Given the description of an element on the screen output the (x, y) to click on. 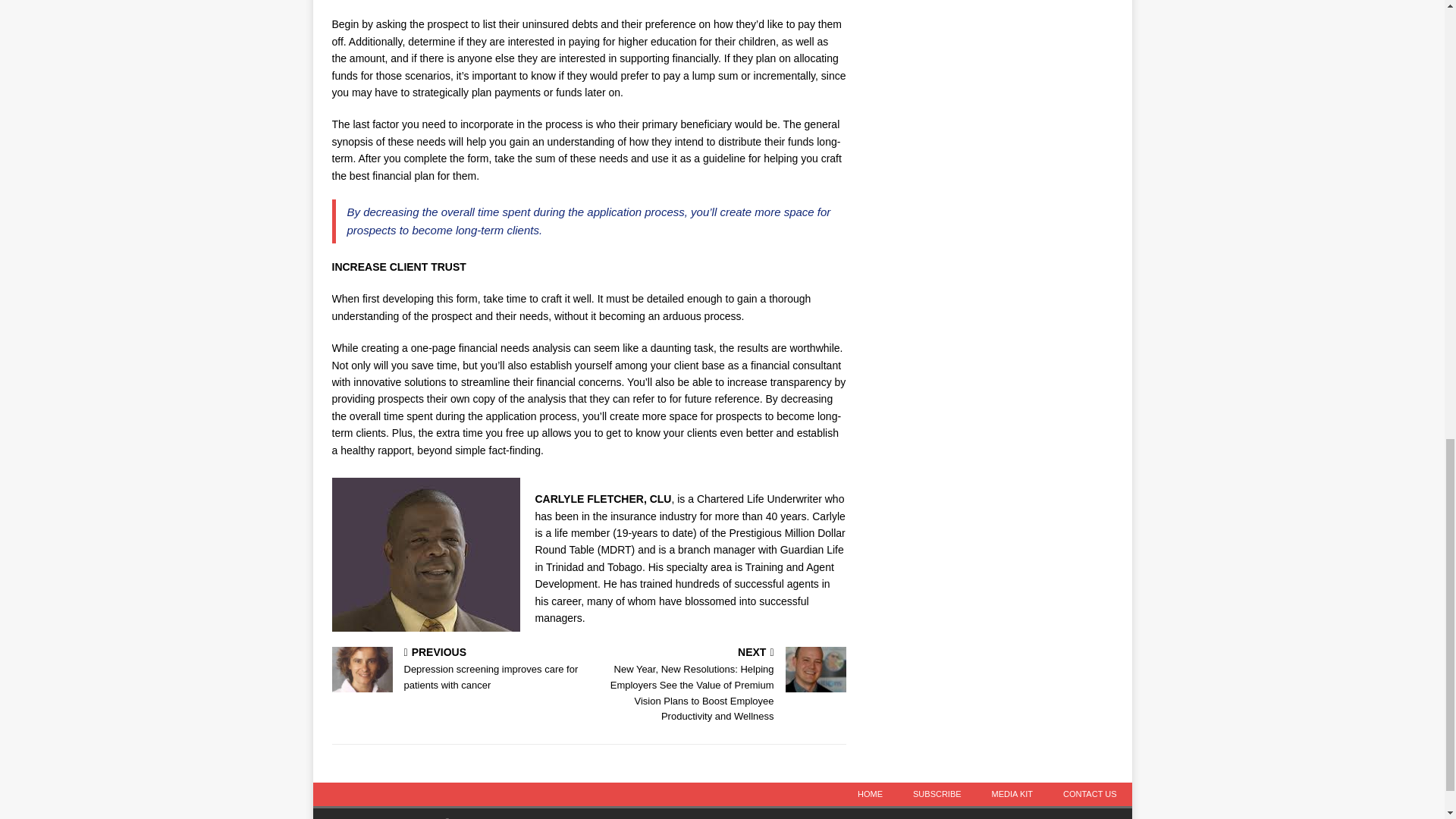
SUBSCRIBE (937, 793)
HOME (870, 793)
